Given the description of an element on the screen output the (x, y) to click on. 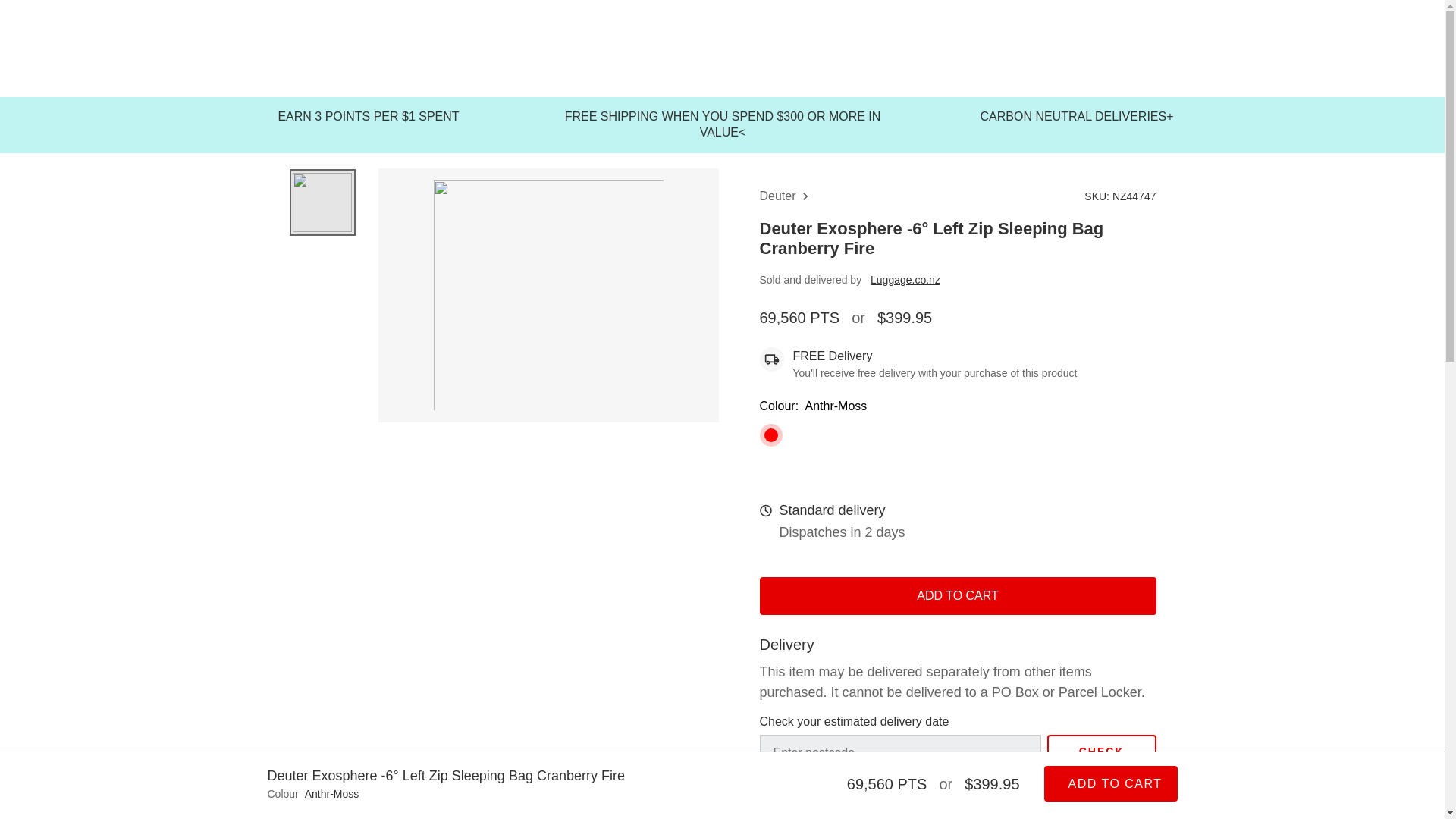
Deuter (786, 196)
CHECK (1101, 751)
Luggage.co.nz (905, 279)
ADD TO CART (1109, 783)
ADD TO CART (958, 596)
